Given the description of an element on the screen output the (x, y) to click on. 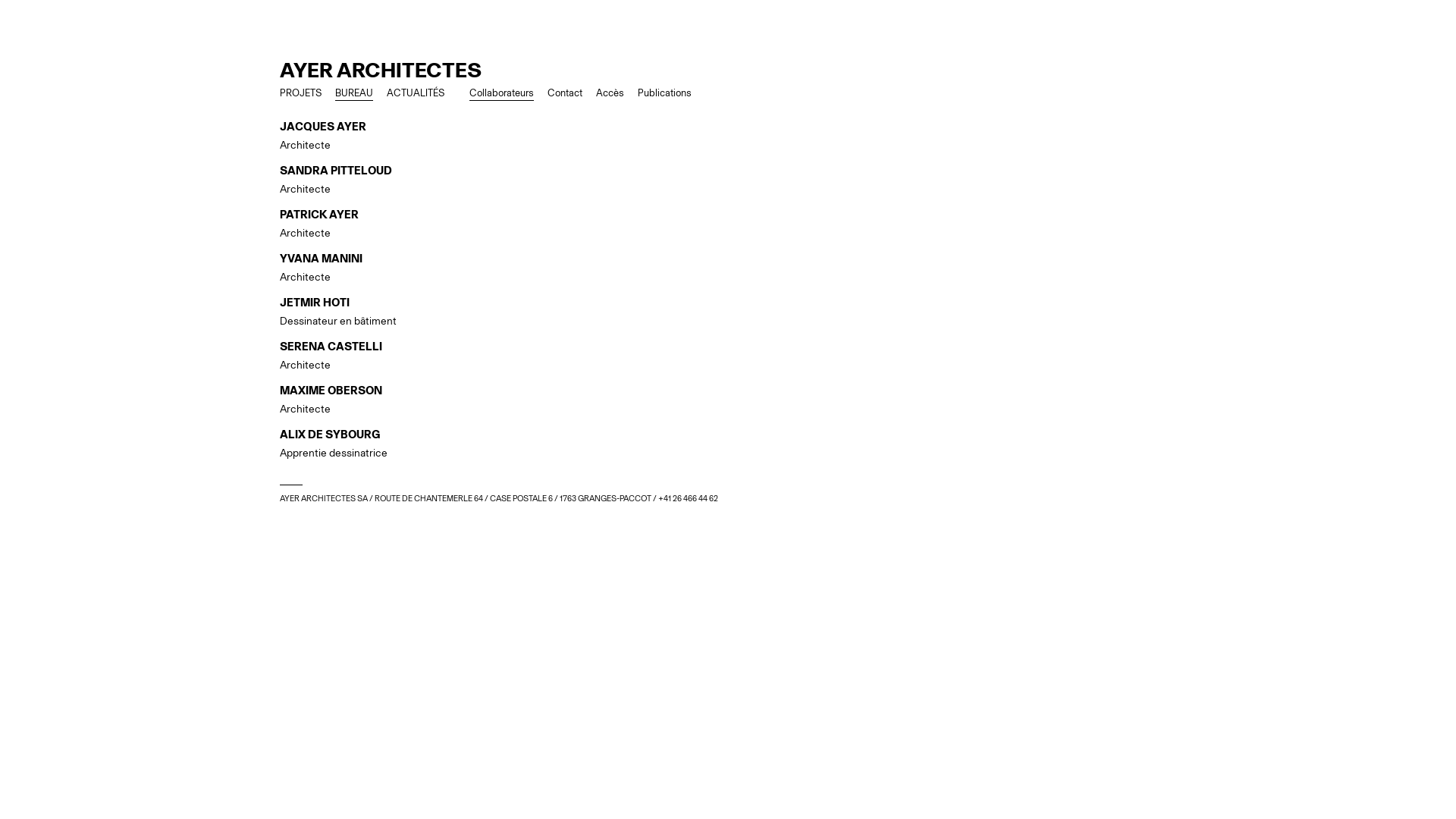
Collaborateurs Element type: text (501, 92)
PATRICK AYER
Architecte Element type: text (727, 223)
ALIX DE SYBOURG
Apprentie dessinatrice Element type: text (727, 443)
PROJETS Element type: text (300, 92)
BUREAU Element type: text (354, 92)
JACQUES AYER
Architecte Element type: text (727, 135)
Publications Element type: text (664, 92)
SANDRA PITTELOUD
Architecte Element type: text (727, 179)
SERENA CASTELLI
Architecte Element type: text (727, 355)
YVANA MANINI
Architecte Element type: text (727, 267)
Contact Element type: text (564, 92)
AYER ARCHITECTES Element type: text (380, 69)
MAXIME OBERSON
Architecte Element type: text (727, 399)
